Given the description of an element on the screen output the (x, y) to click on. 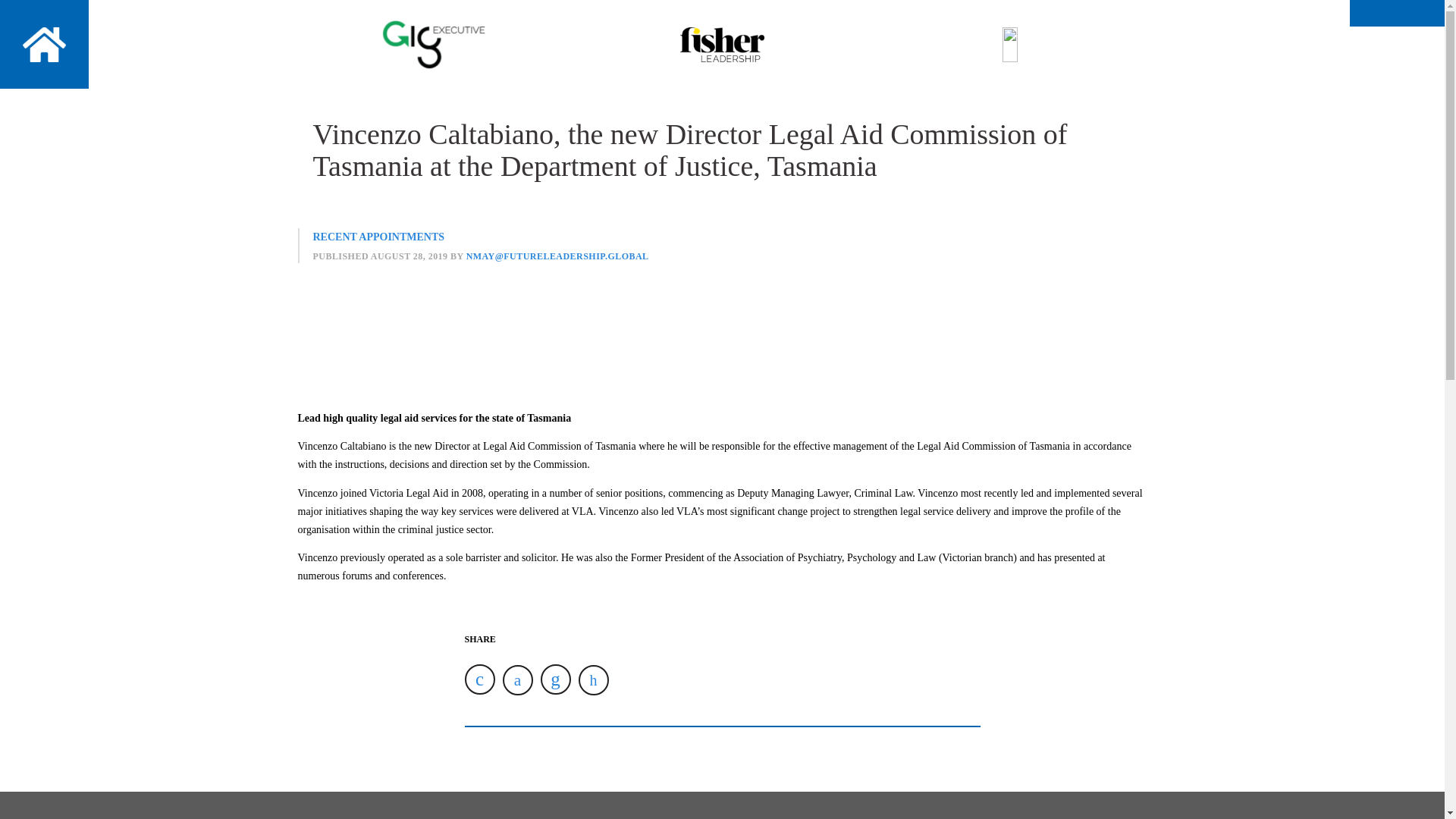
RECENT APPOINTMENTS (378, 236)
Fisher Leadership Logo (722, 44)
CLA LGE-smal (1010, 44)
home-solid (44, 44)
